Given the description of an element on the screen output the (x, y) to click on. 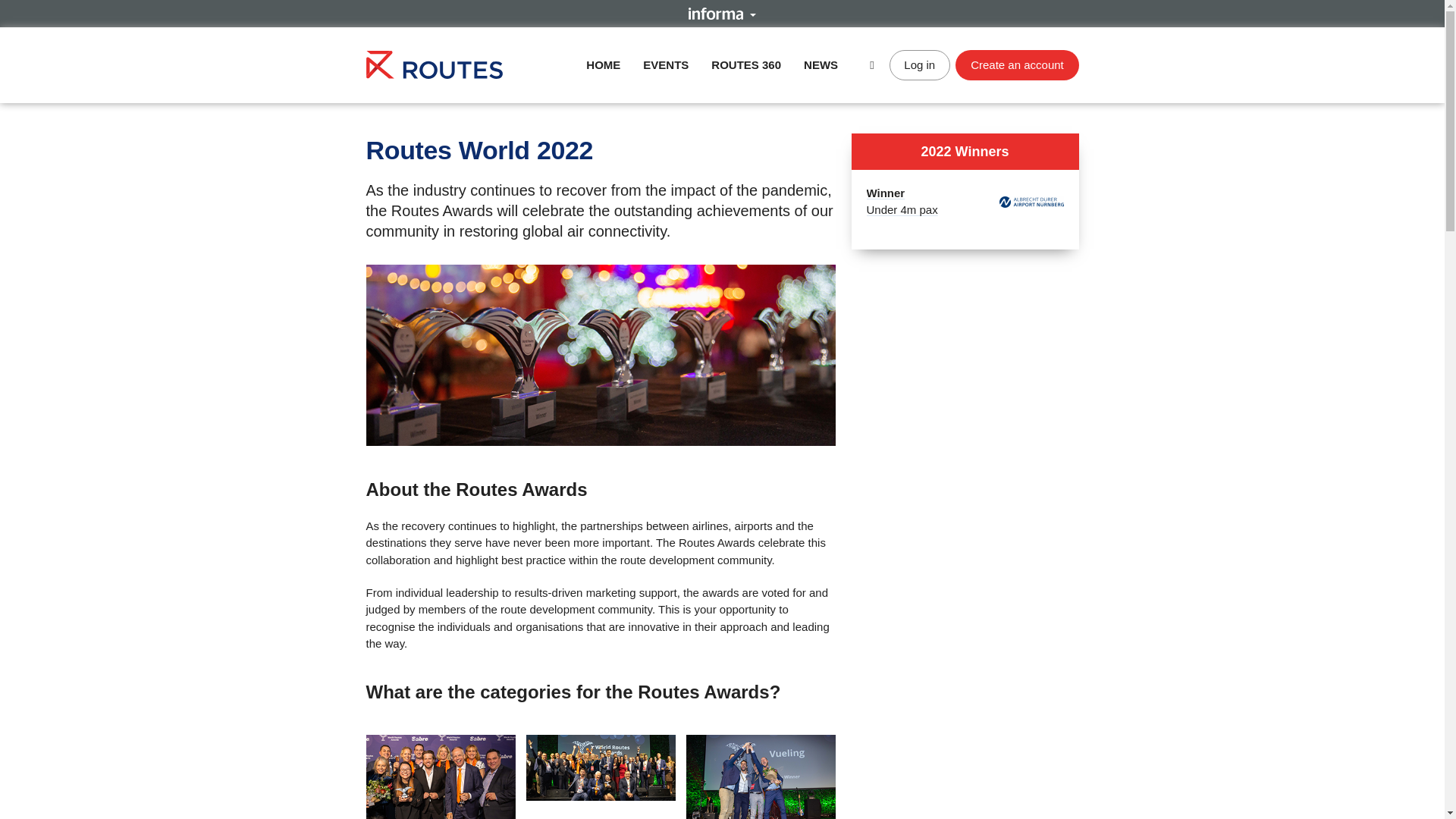
HOME (603, 64)
NEWS (820, 64)
Log in (901, 201)
EVENTS (919, 64)
ROUTES 360 (665, 64)
Routes (745, 64)
Create an account (433, 64)
